Given the description of an element on the screen output the (x, y) to click on. 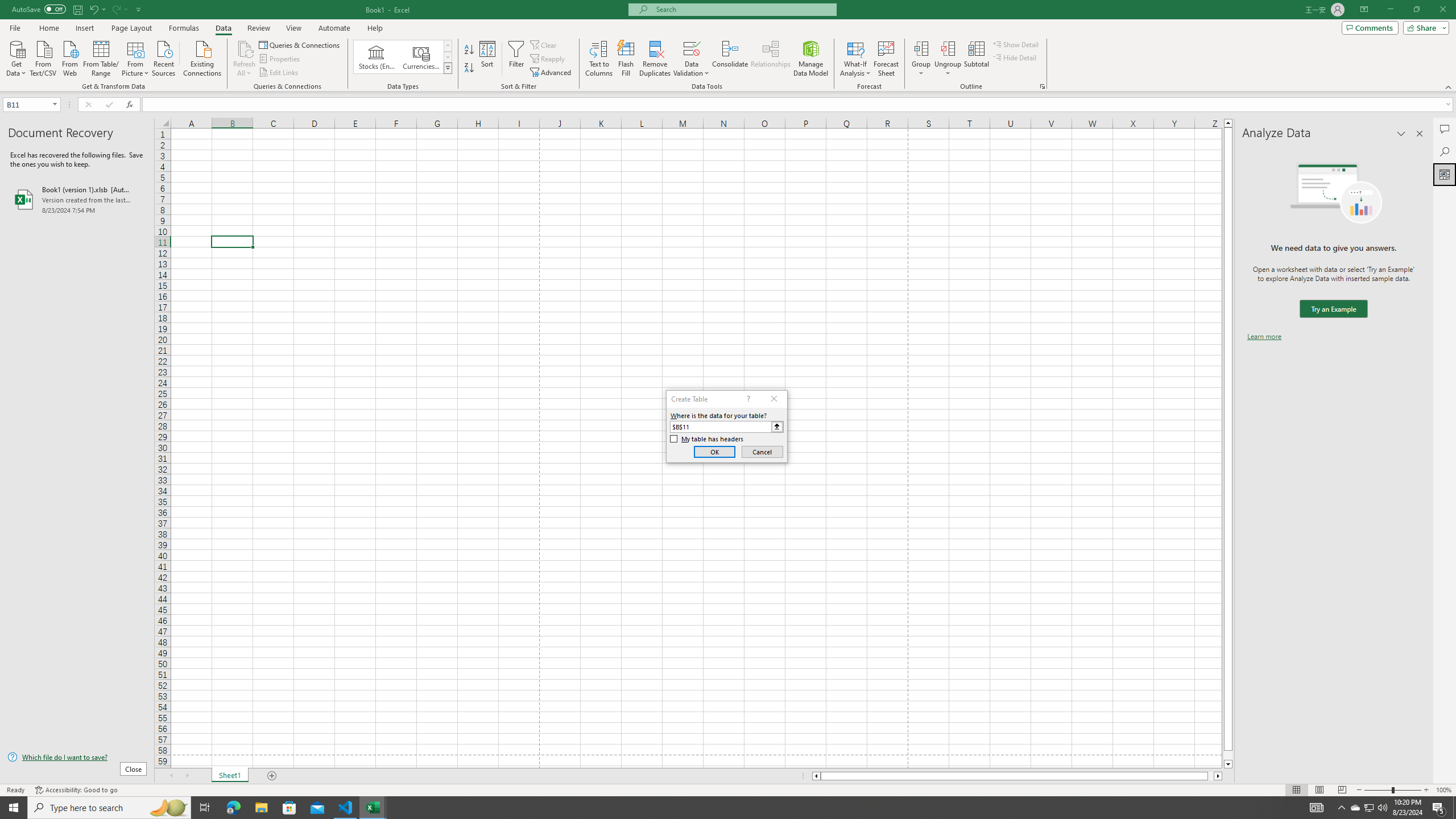
Group... (921, 58)
Properties (280, 58)
Accessibility Checker Accessibility: Good to go (76, 790)
Text to Columns... (598, 58)
Recent Sources (163, 57)
Data (223, 28)
Add Sheet (272, 775)
Learn more (1264, 336)
Formulas (184, 28)
Scroll Right (187, 775)
System (6, 6)
View (293, 28)
Zoom (1392, 790)
